Given the description of an element on the screen output the (x, y) to click on. 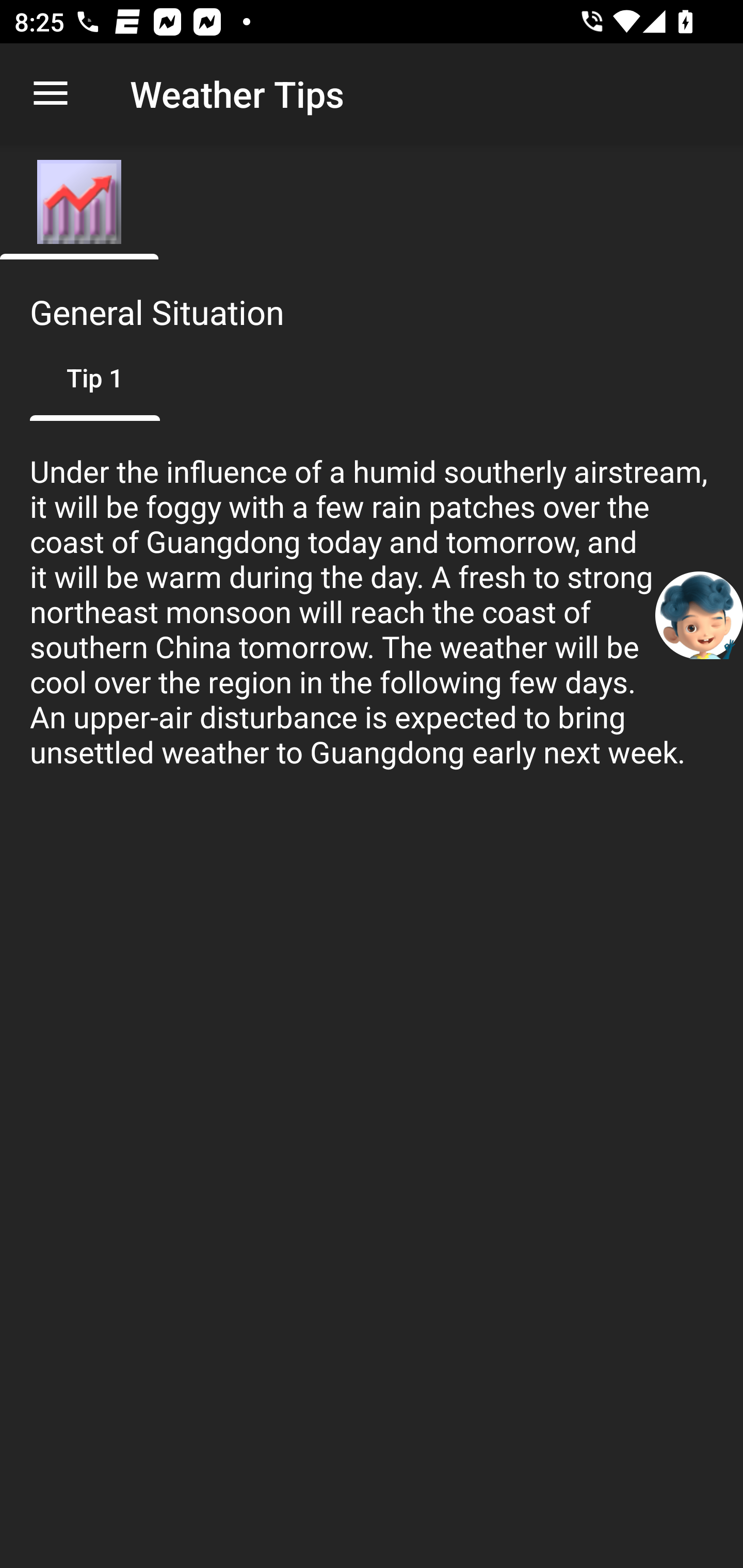
Navigate up (50, 93)
Chatbot (699, 614)
